Given the description of an element on the screen output the (x, y) to click on. 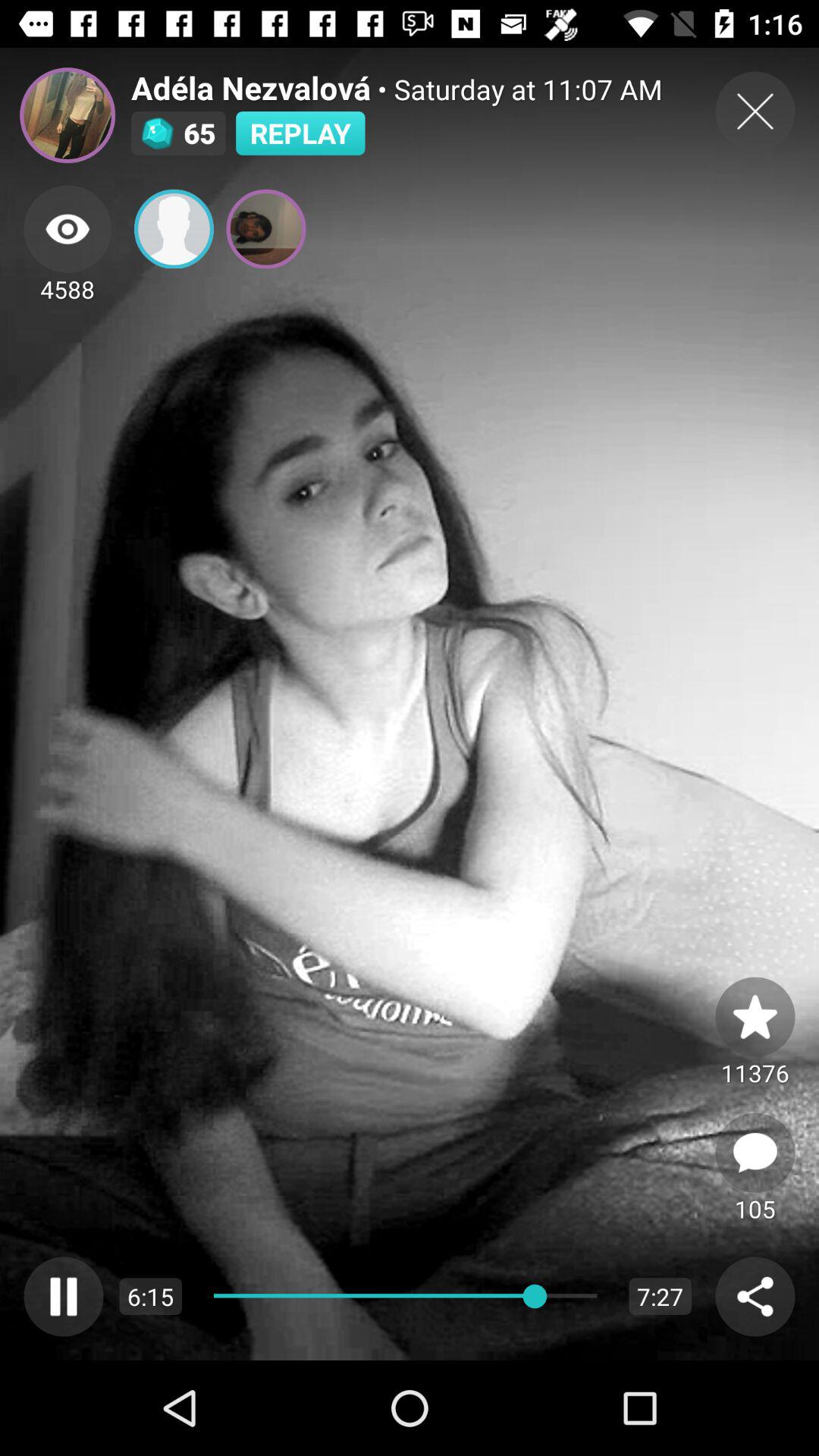
like button (755, 1016)
